Given the description of an element on the screen output the (x, y) to click on. 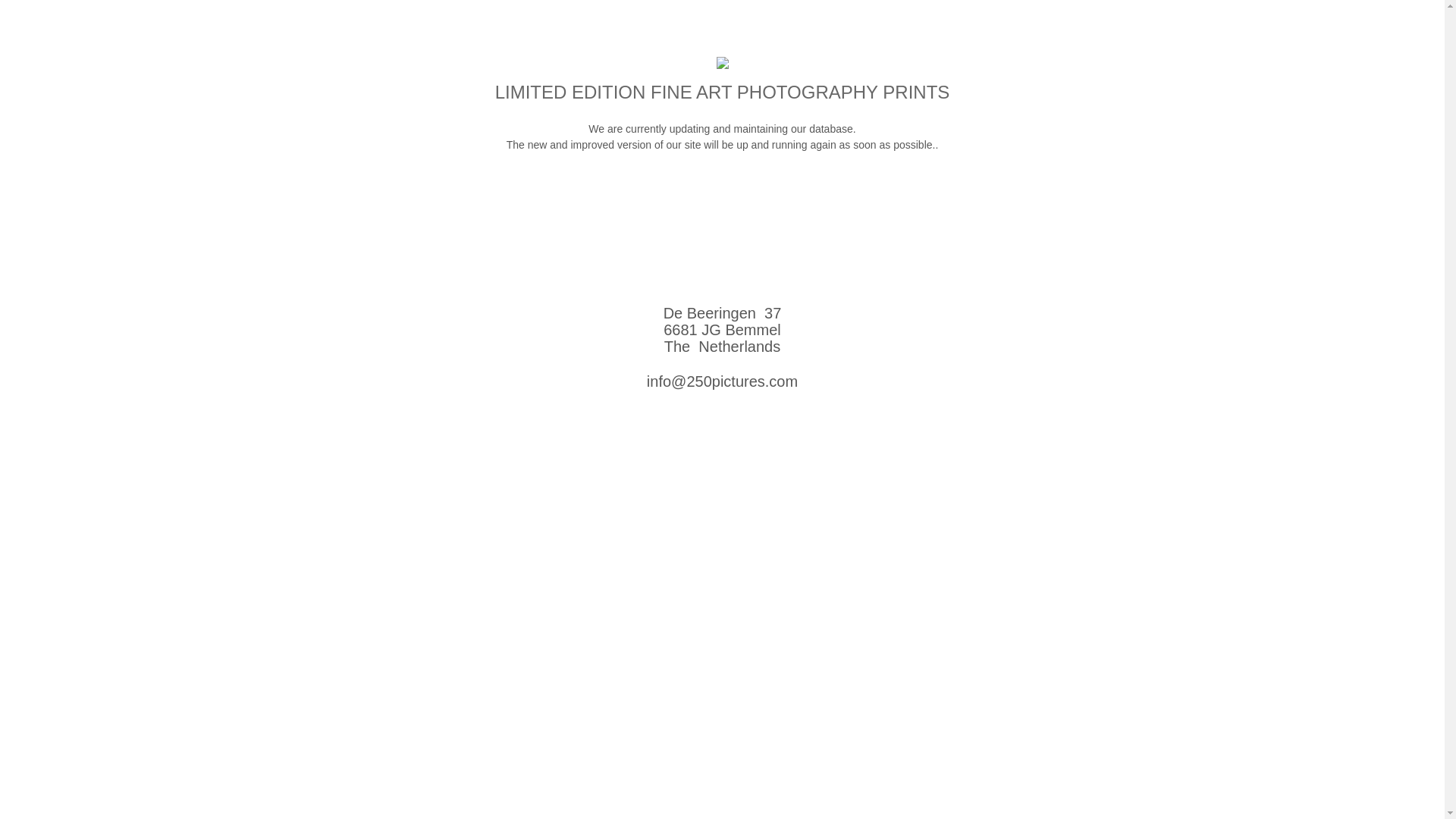
info@250pictures.com Element type: text (721, 381)
